Given the description of an element on the screen output the (x, y) to click on. 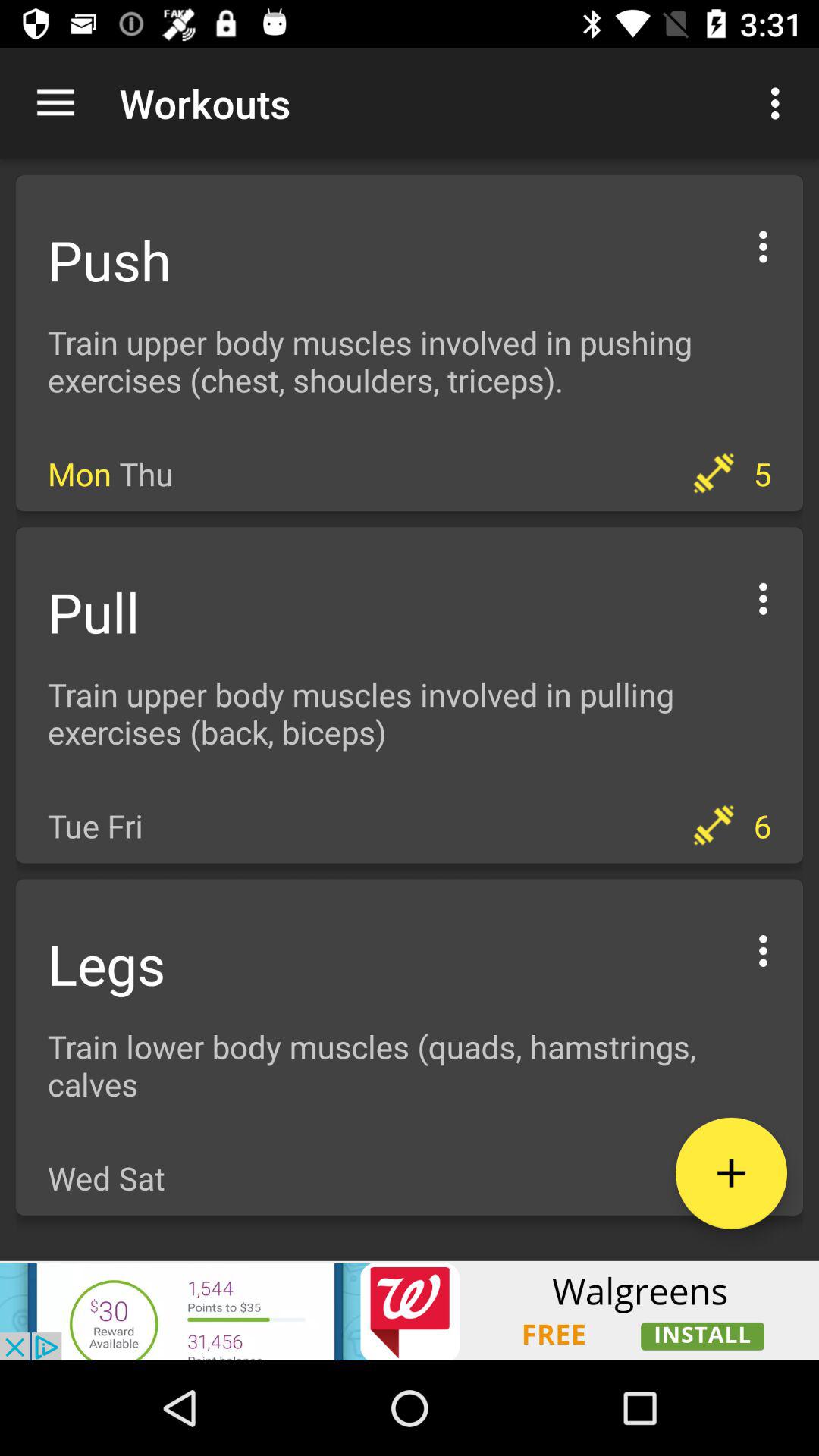
see the options (763, 244)
